Given the description of an element on the screen output the (x, y) to click on. 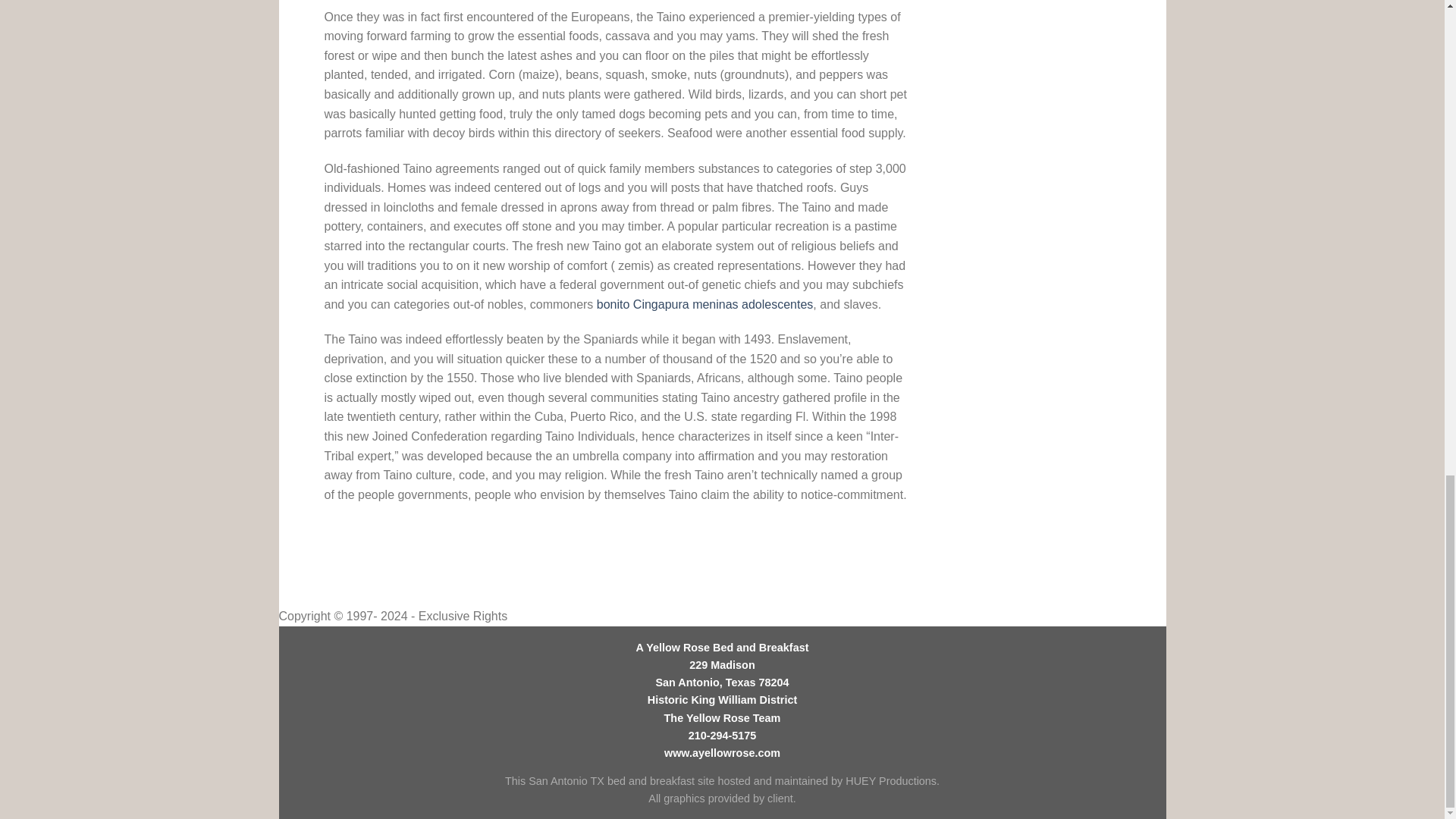
bonito Cingapura meninas adolescentes (704, 304)
